Given the description of an element on the screen output the (x, y) to click on. 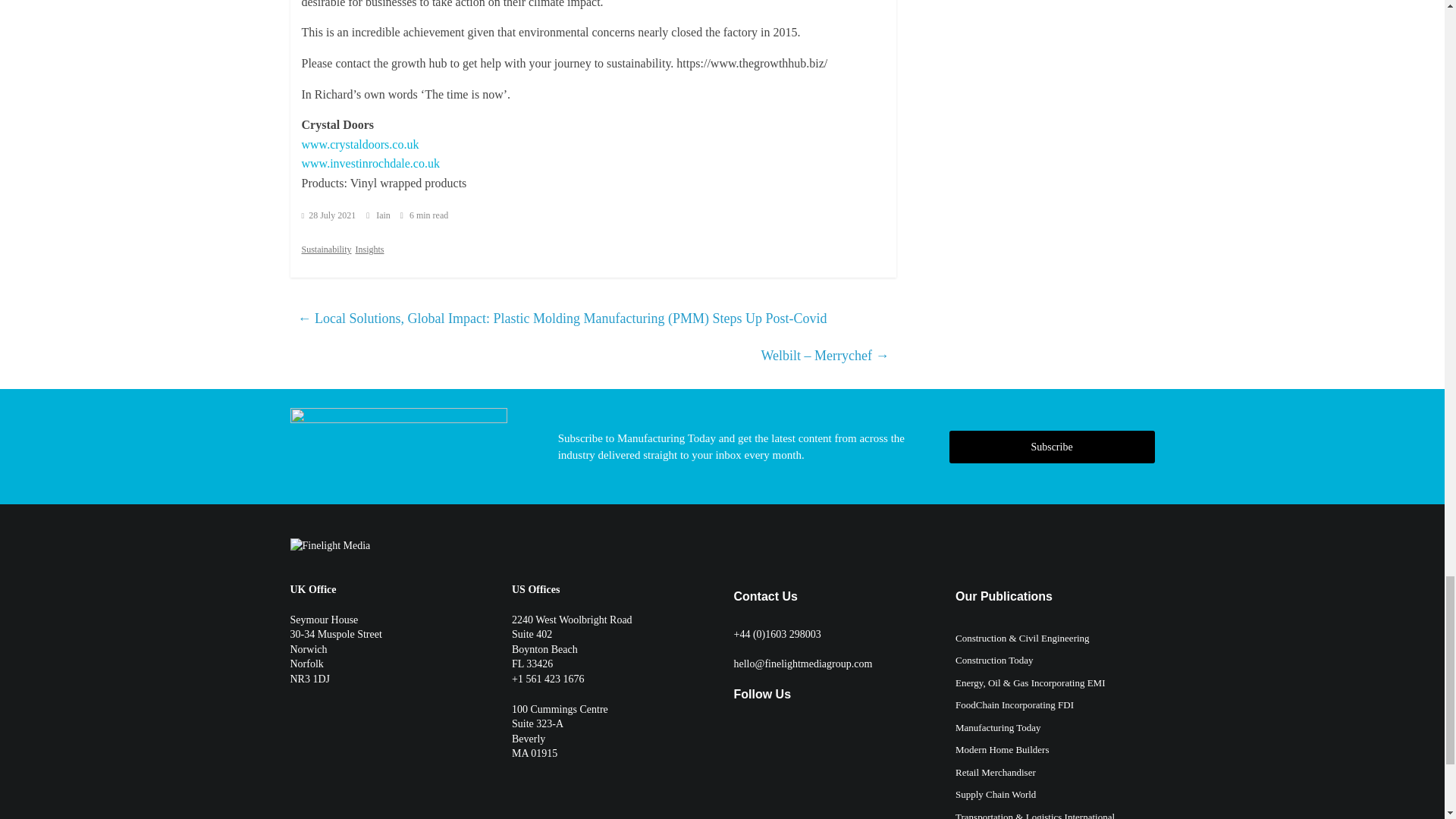
2:17 pm (328, 214)
Subscribe (1051, 446)
www.crystaldoors.co.uk (360, 144)
Sustainability (326, 249)
28 July 2021 (328, 214)
Iain (384, 214)
Iain (384, 214)
Insights (369, 249)
www.investinrochdale.co.uk (370, 163)
